Given the description of an element on the screen output the (x, y) to click on. 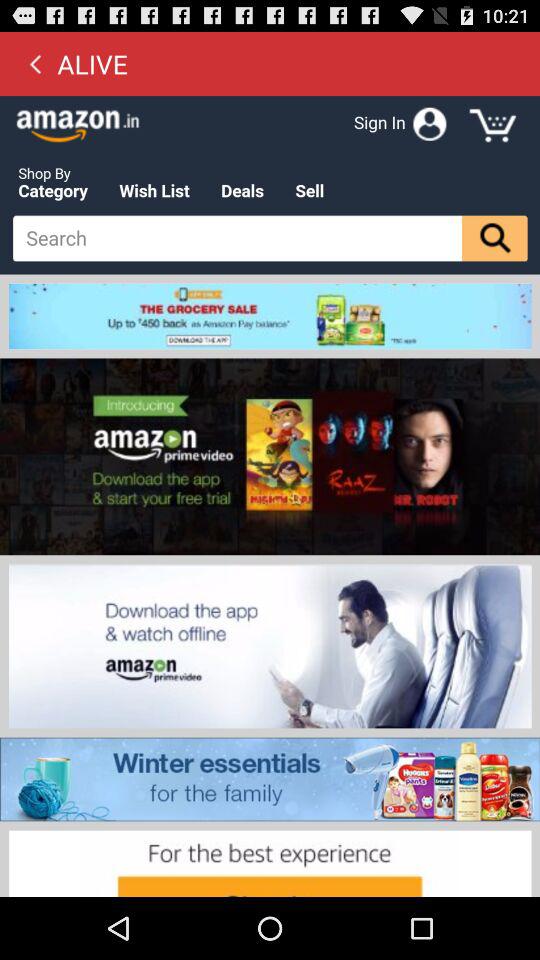
click on arrow to go back to previous page (35, 63)
